Given the description of an element on the screen output the (x, y) to click on. 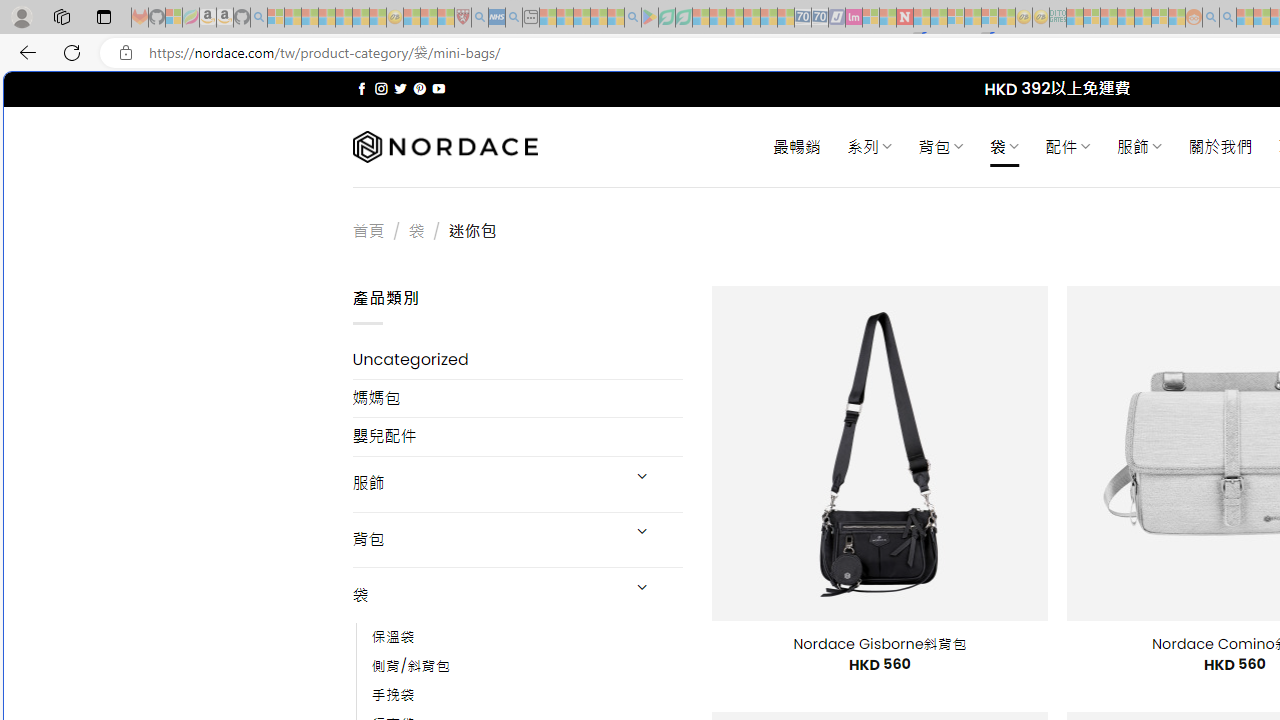
Follow on Twitter (400, 88)
Latest Politics News & Archive | Newsweek.com - Sleeping (904, 17)
Pets - MSN - Sleeping (598, 17)
Follow on Instagram (381, 88)
Microsoft-Report a Concern to Bing - Sleeping (173, 17)
